Given the description of an element on the screen output the (x, y) to click on. 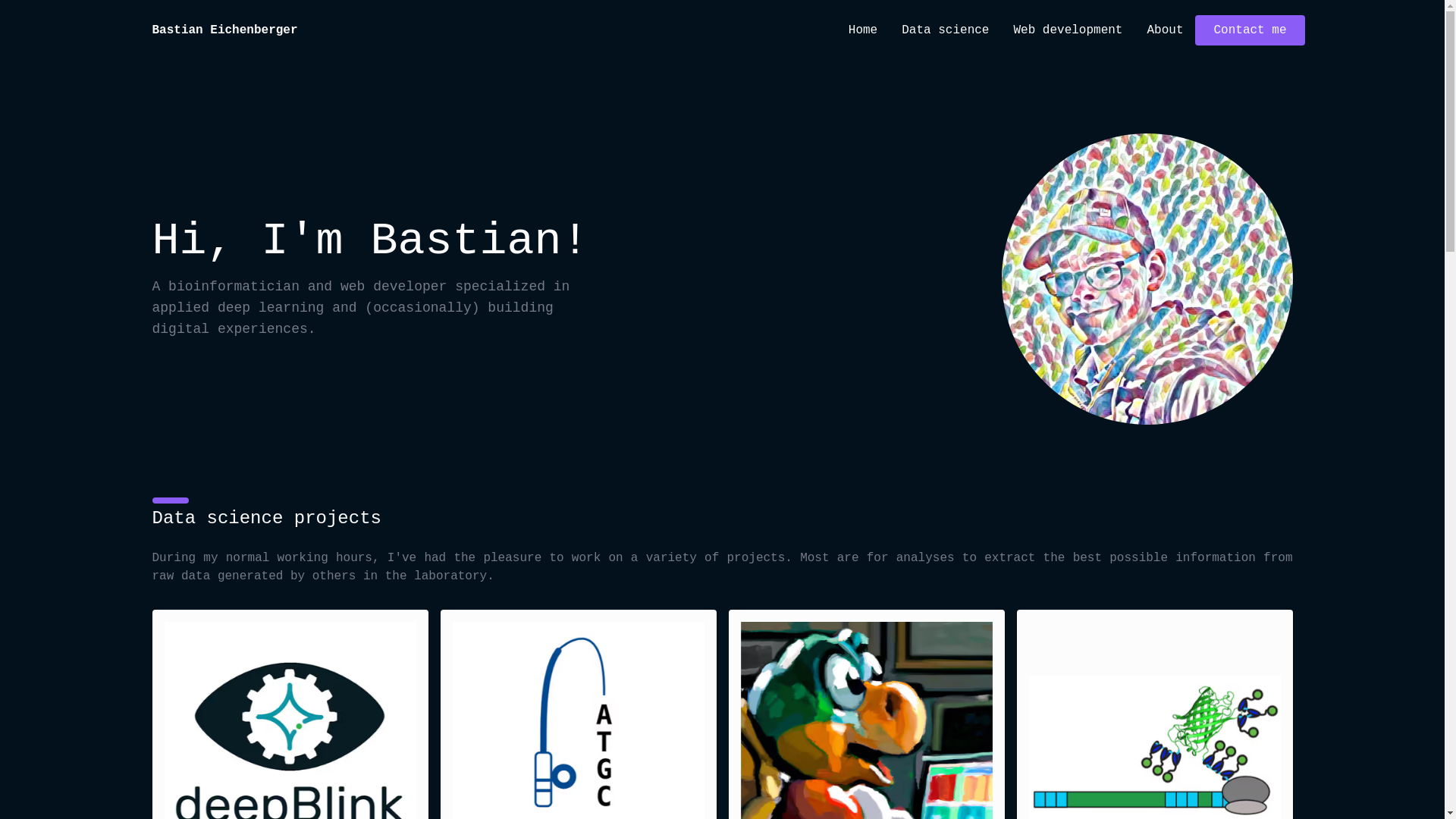
Contact me Element type: text (1249, 30)
